Given the description of an element on the screen output the (x, y) to click on. 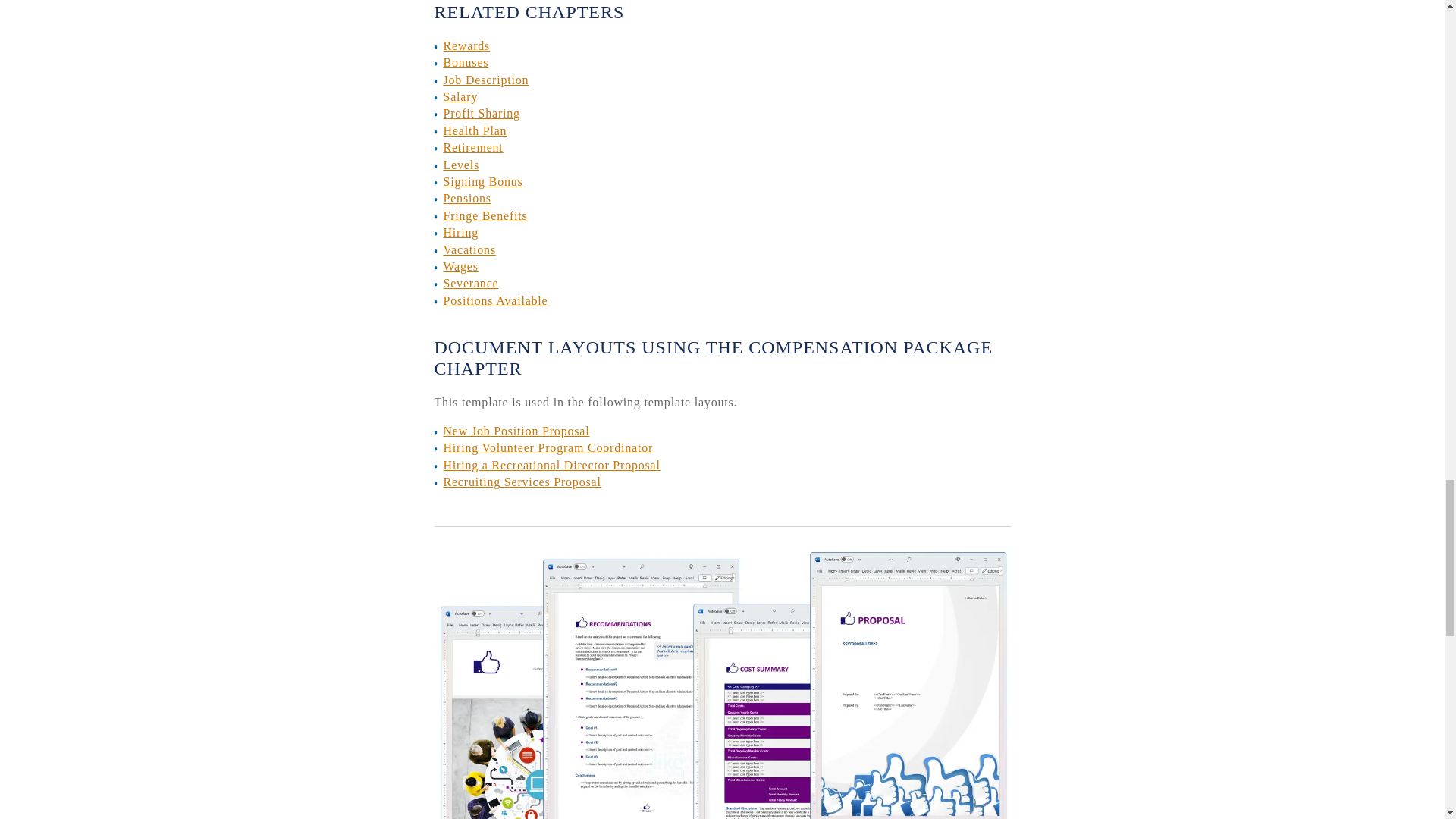
Salary (459, 96)
Rewards (465, 45)
Pensions (466, 197)
Health Plan (474, 130)
Retirement (472, 146)
Profit Sharing (480, 113)
Bonuses (464, 62)
Levels (460, 164)
Signing Bonus (482, 181)
Job Description (485, 79)
Fringe Benefits (484, 215)
